Given the description of an element on the screen output the (x, y) to click on. 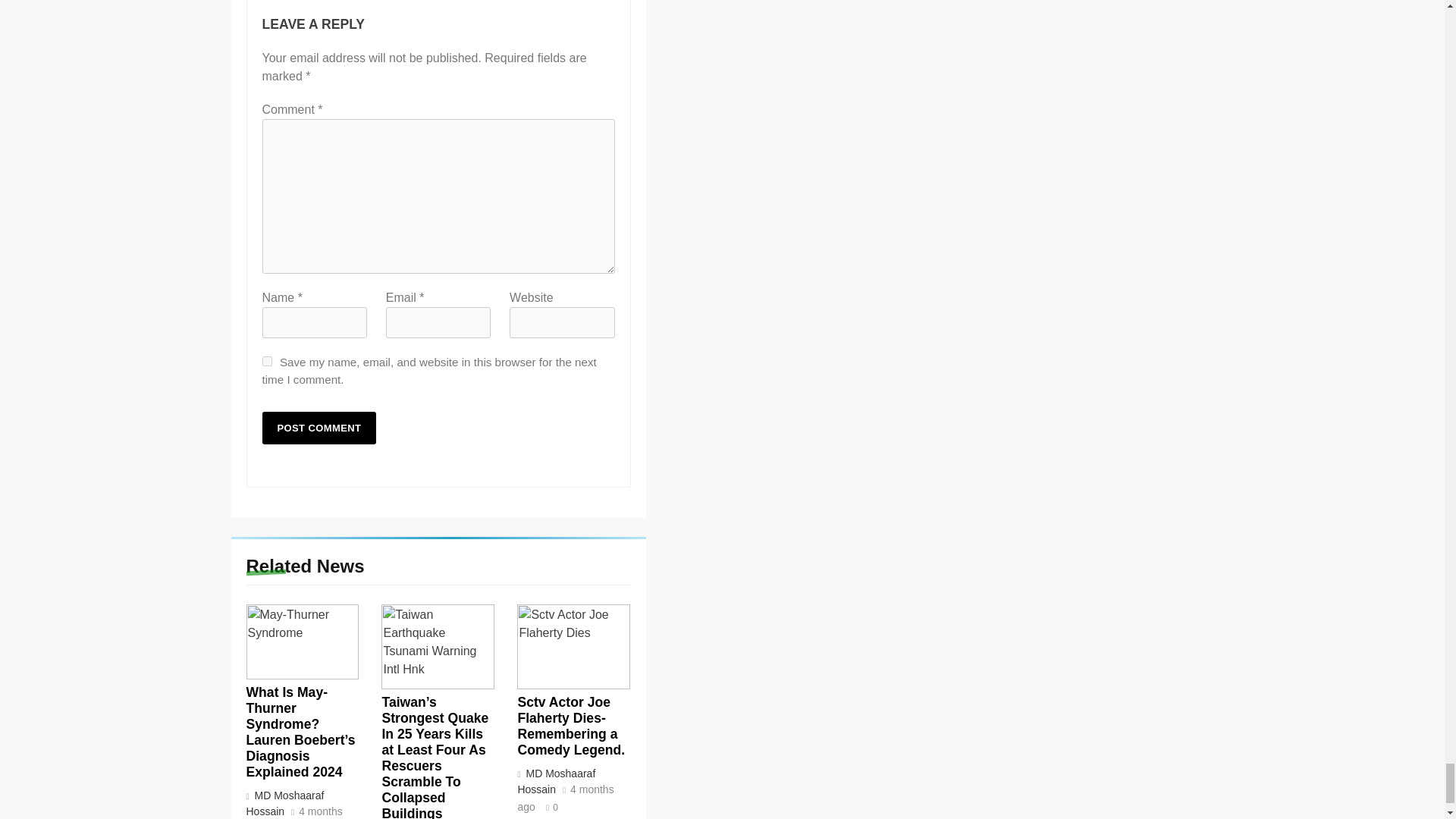
Post Comment (319, 427)
4 months ago (564, 798)
MD Moshaaraf Hossain (284, 803)
Post Comment (319, 427)
4 months ago (294, 812)
Sctv Actor Joe Flaherty Dies- Remembering a Comedy Legend. (573, 646)
Sctv Actor Joe Flaherty Dies- Remembering a Comedy Legend. (570, 725)
yes (267, 361)
MD Moshaaraf Hossain (555, 781)
